Given the description of an element on the screen output the (x, y) to click on. 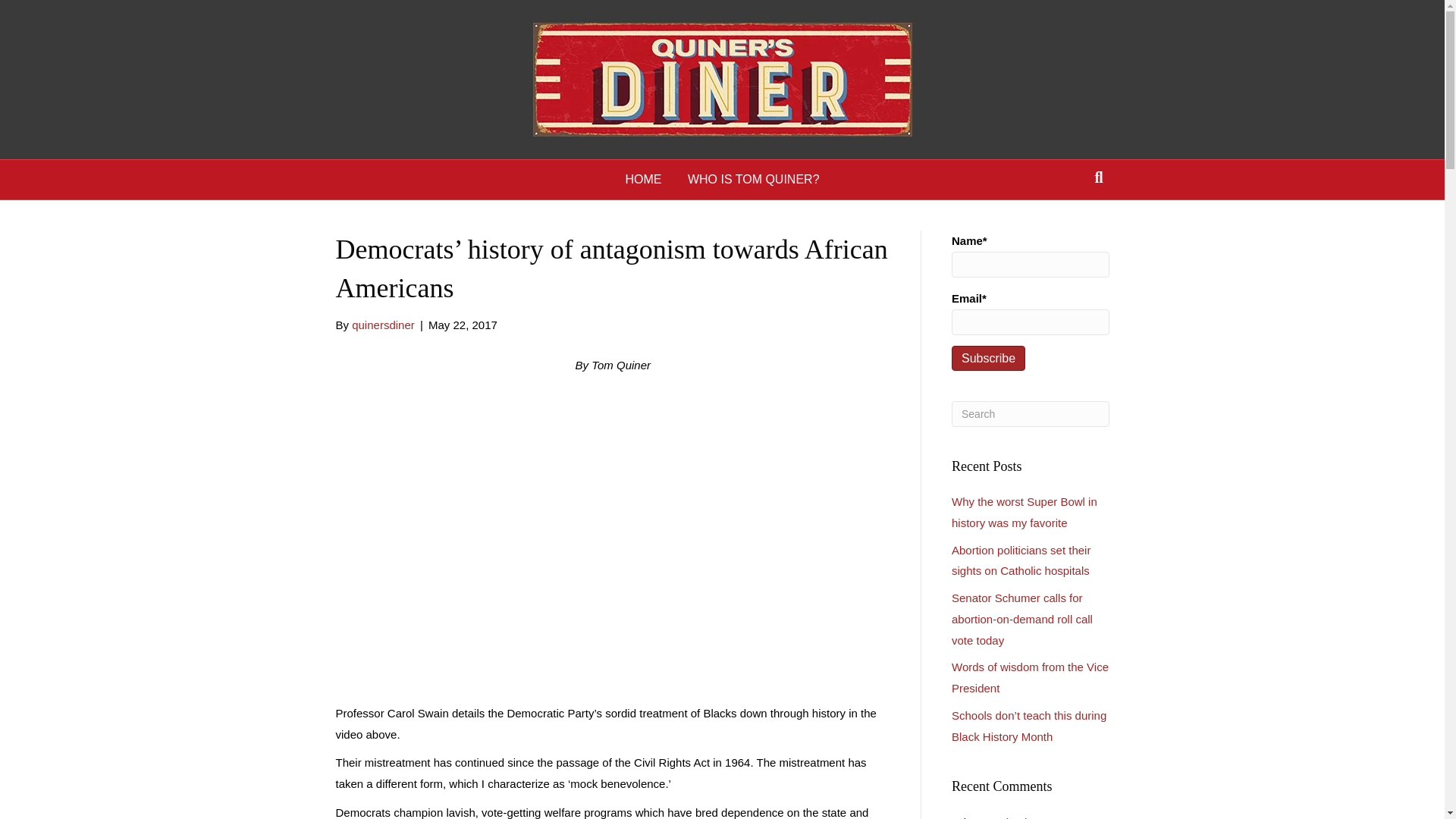
quinersdiner (383, 324)
Type and press Enter to search. (1030, 413)
Why the worst Super Bowl in history was my favorite (1024, 512)
Subscribe (988, 358)
Why the worst Super Bowl in history was my favorite (1029, 817)
WHO IS TOM QUINER? (754, 179)
Words of wisdom from the Vice President (1030, 677)
HOME (642, 179)
Subscribe (988, 358)
Abortion politicians set their sights on Catholic hospitals (1021, 560)
